Given the description of an element on the screen output the (x, y) to click on. 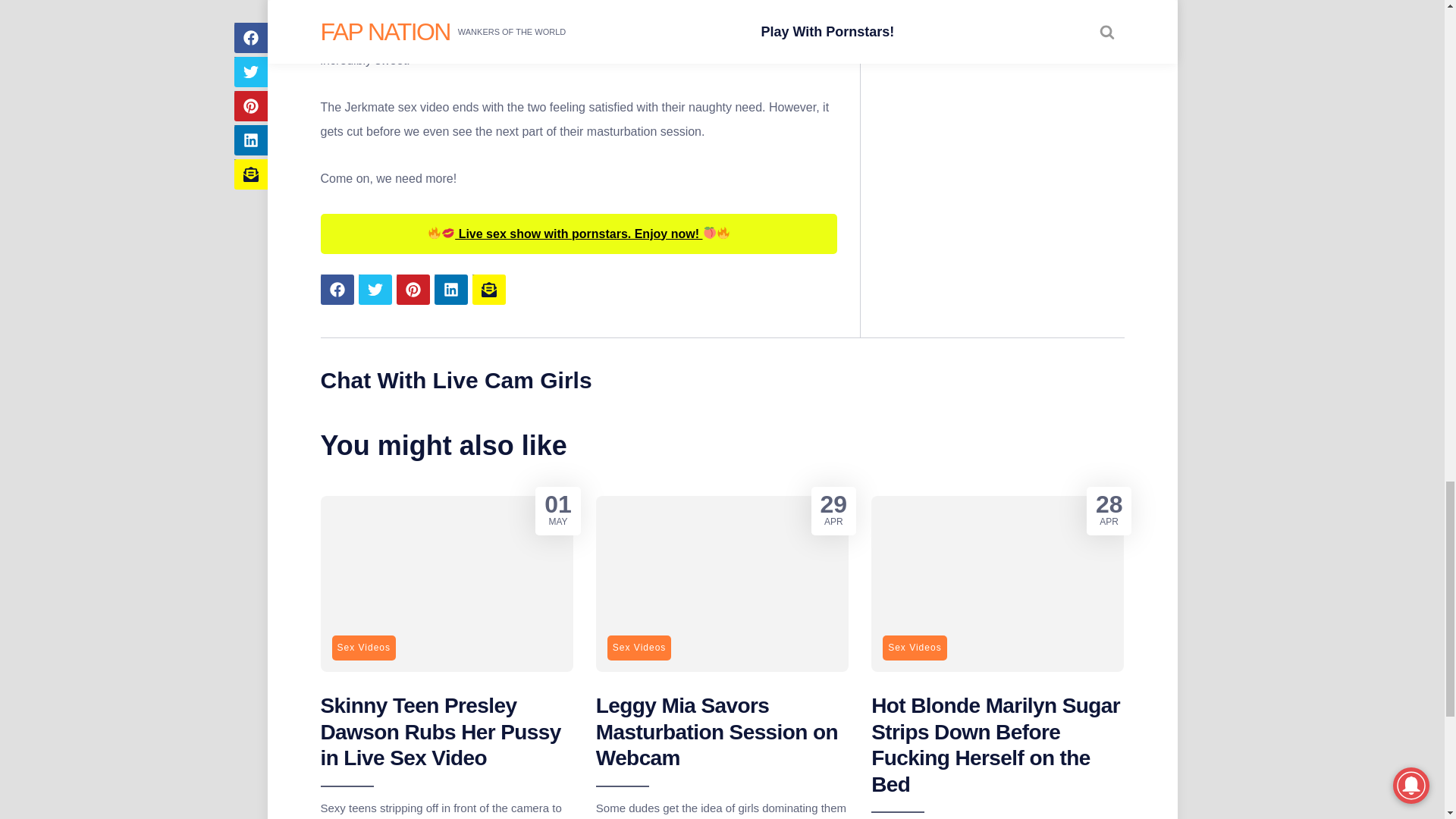
Live sex show with pornstars. Enjoy now! (578, 233)
